Given the description of an element on the screen output the (x, y) to click on. 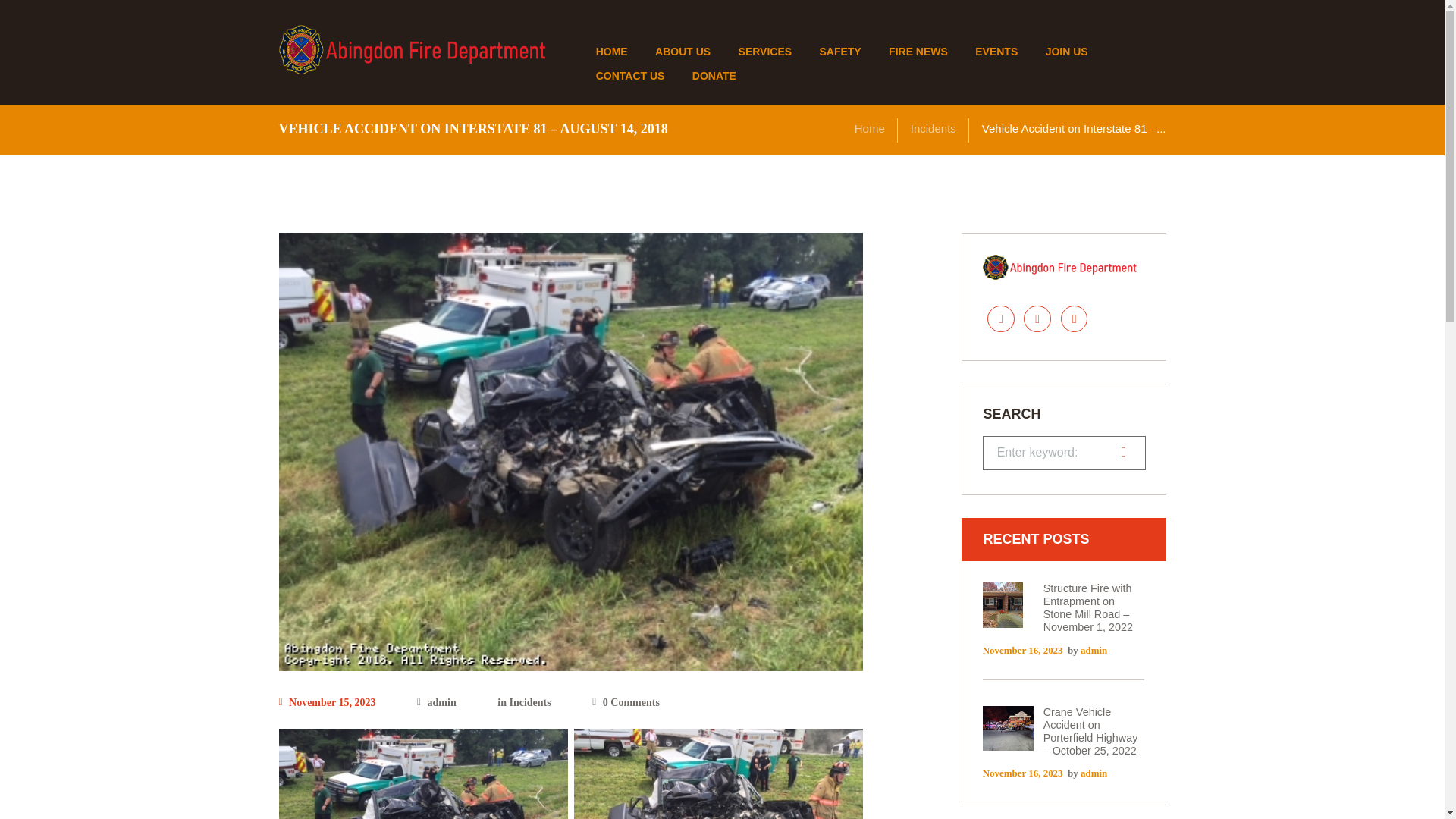
ABOUT US (683, 52)
SAFETY (840, 52)
CONTACT US (629, 76)
SERVICES (764, 52)
DONATE (713, 76)
Search for: (1064, 452)
JOIN US (1065, 52)
Comments - 0 (625, 703)
HOME (610, 52)
EVENTS (995, 52)
